Given the description of an element on the screen output the (x, y) to click on. 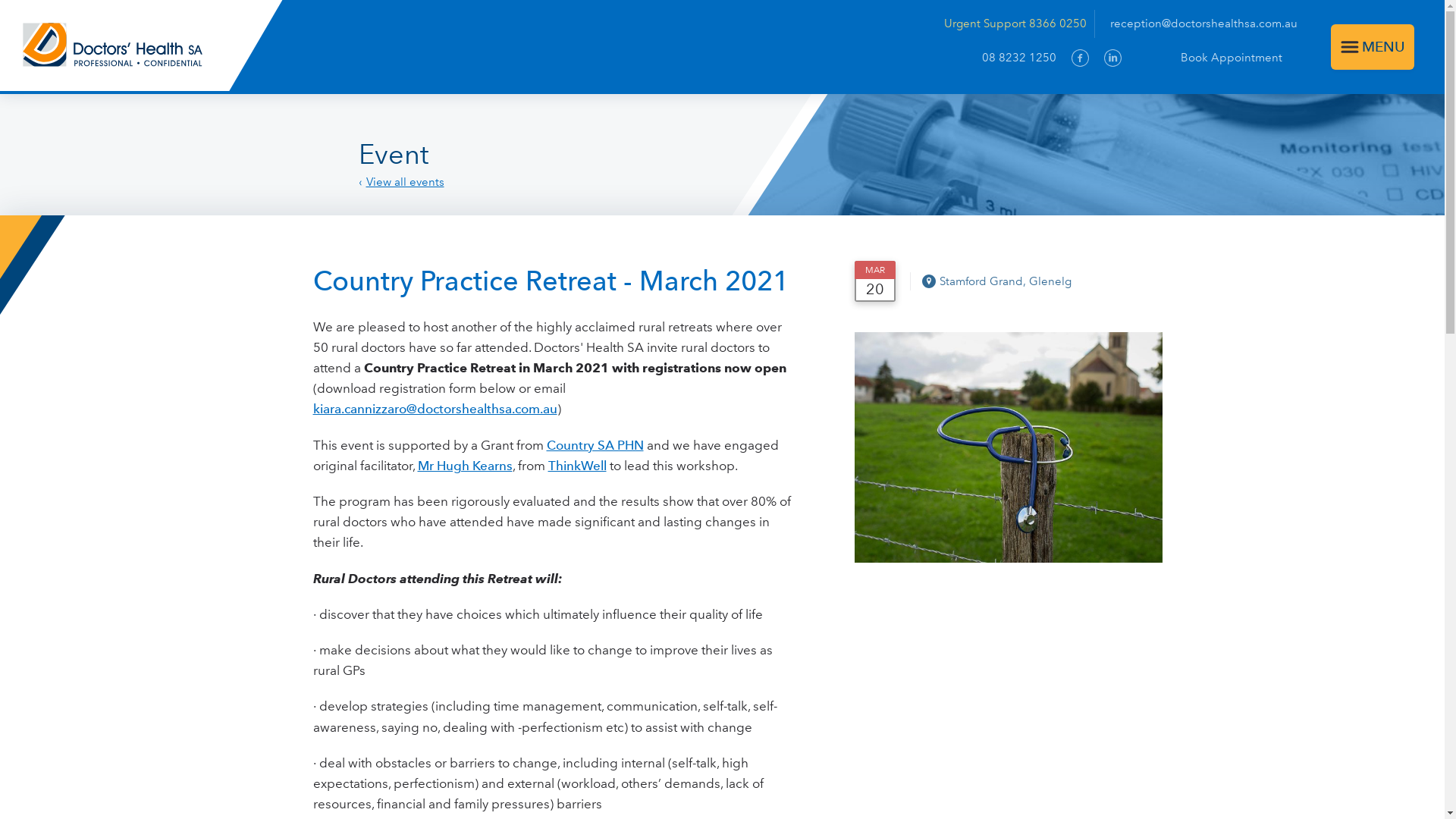
kiara.cannizzaro@doctorshealthsa.com.au Element type: text (434, 408)
MENU Element type: text (1372, 46)
ThinkWell Element type: text (576, 465)
reception@doctorshealthsa.com.au Element type: text (1203, 23)
08 8232 1250 Element type: text (1019, 57)
View all events Element type: text (400, 182)
Country SA PHN Element type: text (594, 444)
Mr Hugh Kearns Element type: text (464, 465)
Book Appointment Element type: text (1216, 57)
Urgent Support 8366 0250 Element type: text (1019, 23)
